Given the description of an element on the screen output the (x, y) to click on. 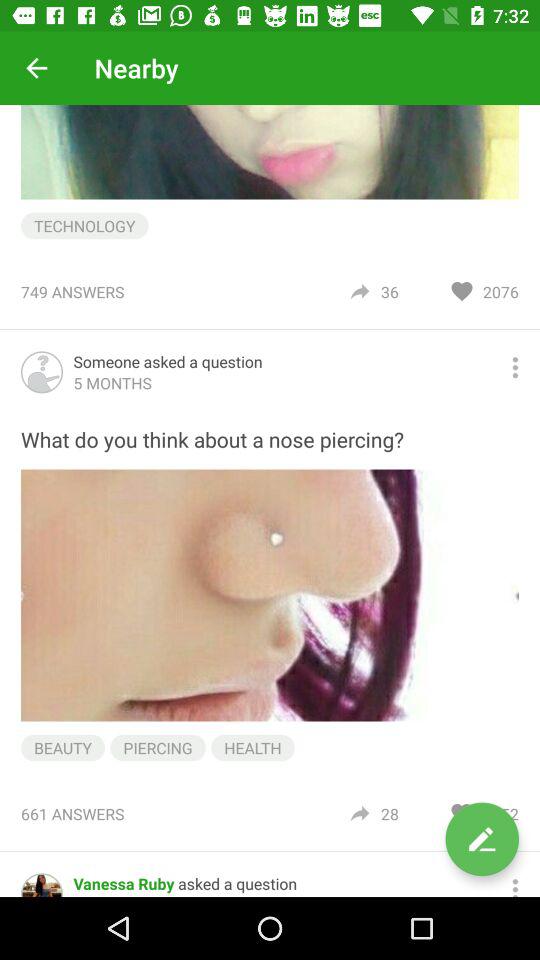
share the article (515, 367)
